Given the description of an element on the screen output the (x, y) to click on. 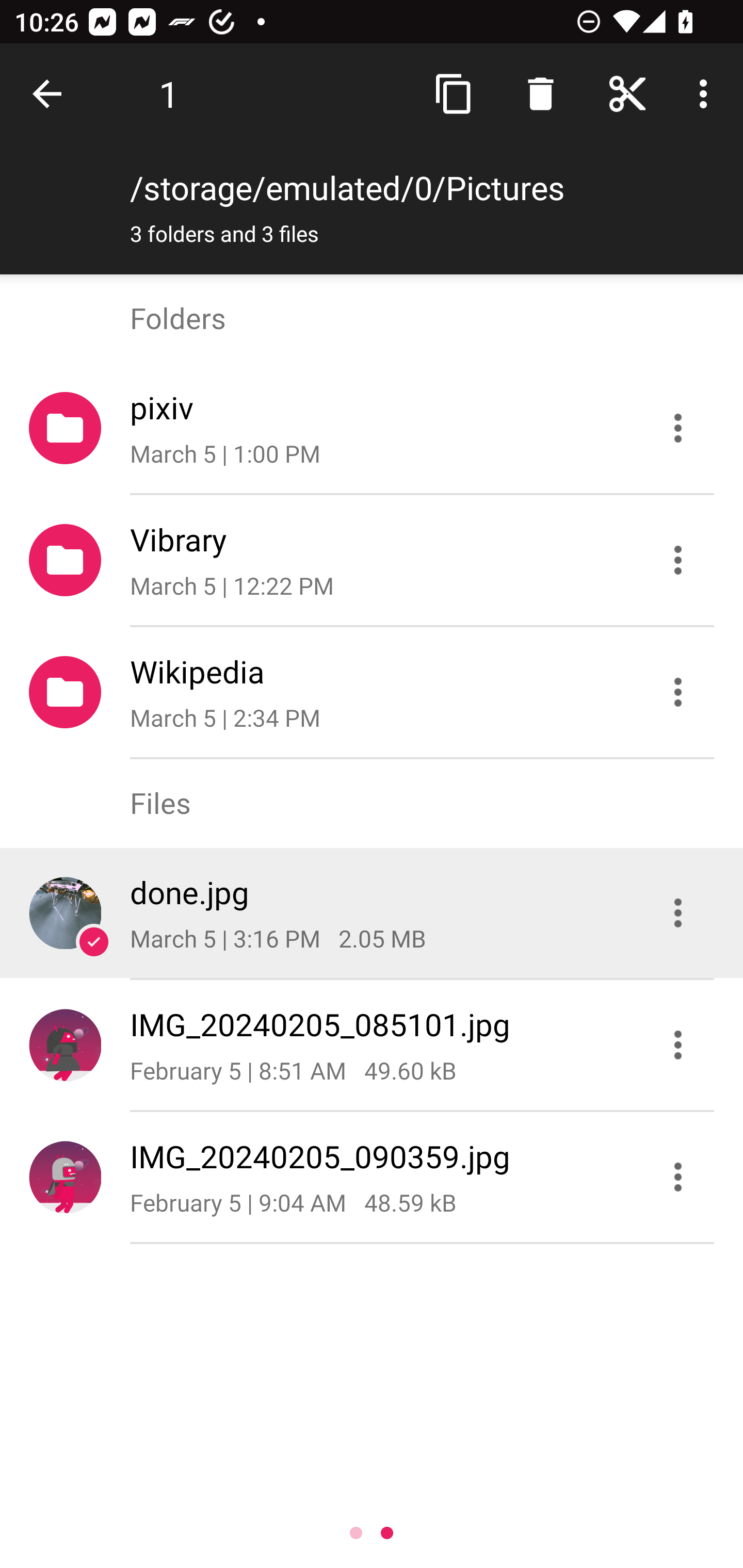
1 (169, 93)
Done (50, 93)
Copy (453, 93)
Search (540, 93)
Home (626, 93)
More options (706, 93)
pixiv March 5 | 1:00 PM (371, 427)
Vibrary March 5 | 12:22 PM (371, 560)
Wikipedia March 5 | 2:34 PM (371, 692)
icon done.jpg March 5 | 3:16 PM 2.05 MB (371, 913)
icon (64, 912)
icon (64, 1044)
icon (64, 1177)
